Given the description of an element on the screen output the (x, y) to click on. 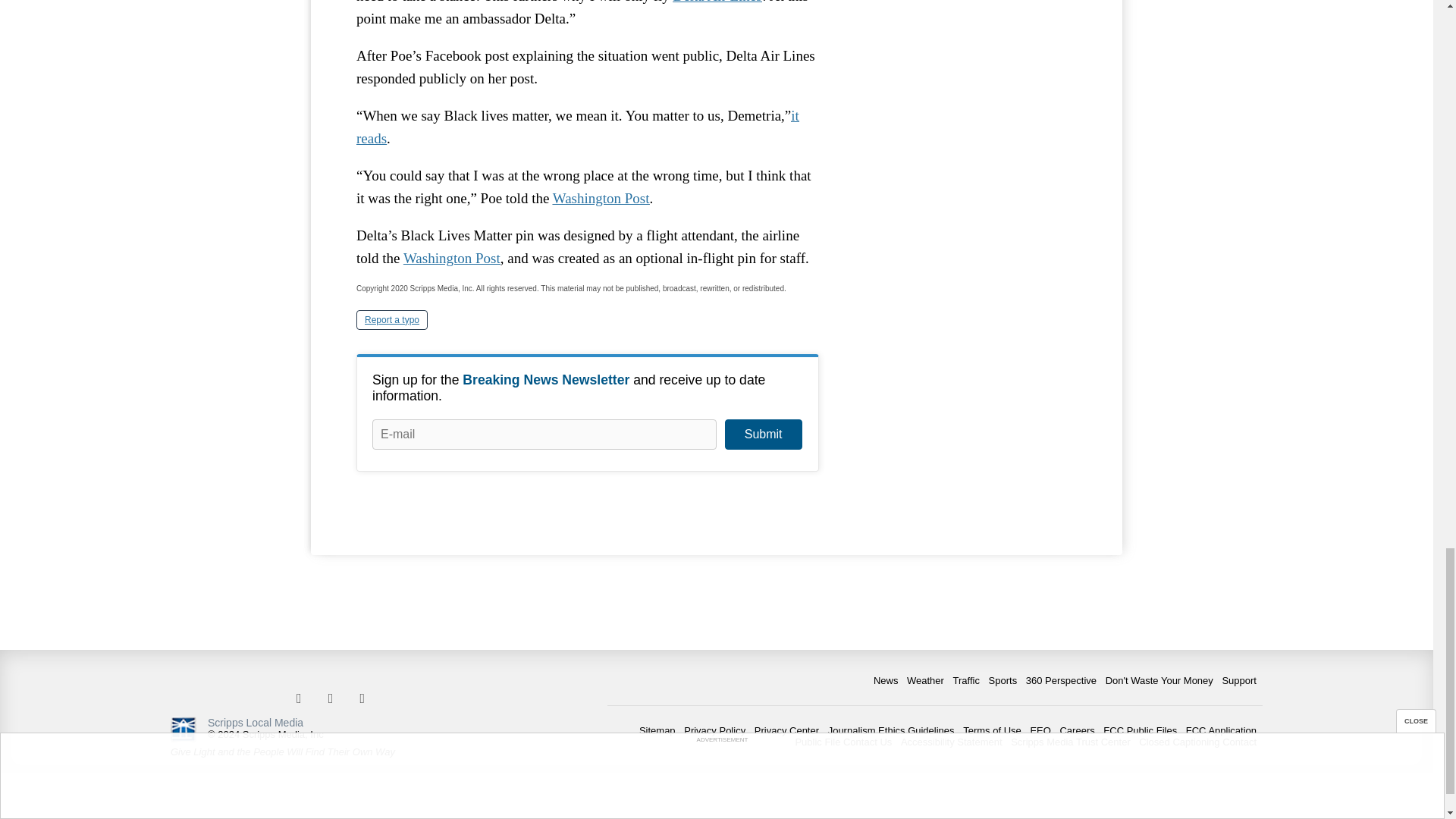
Submit (763, 434)
